Given the description of an element on the screen output the (x, y) to click on. 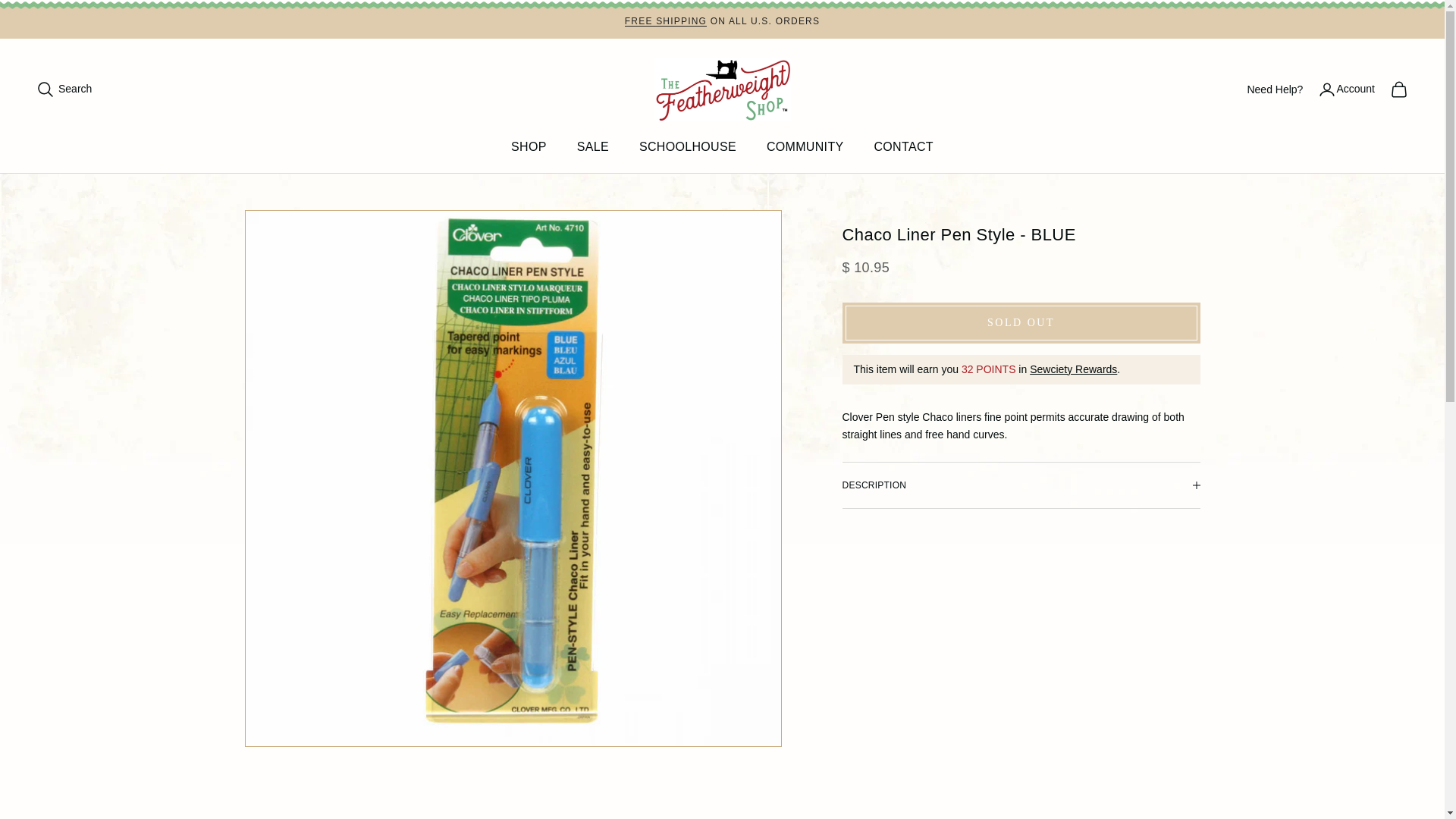
Shipping, Returns, Policies, etc. (665, 20)
FREE SHIPPING (665, 20)
The Singer Featherweight Shop (721, 89)
